Given the description of an element on the screen output the (x, y) to click on. 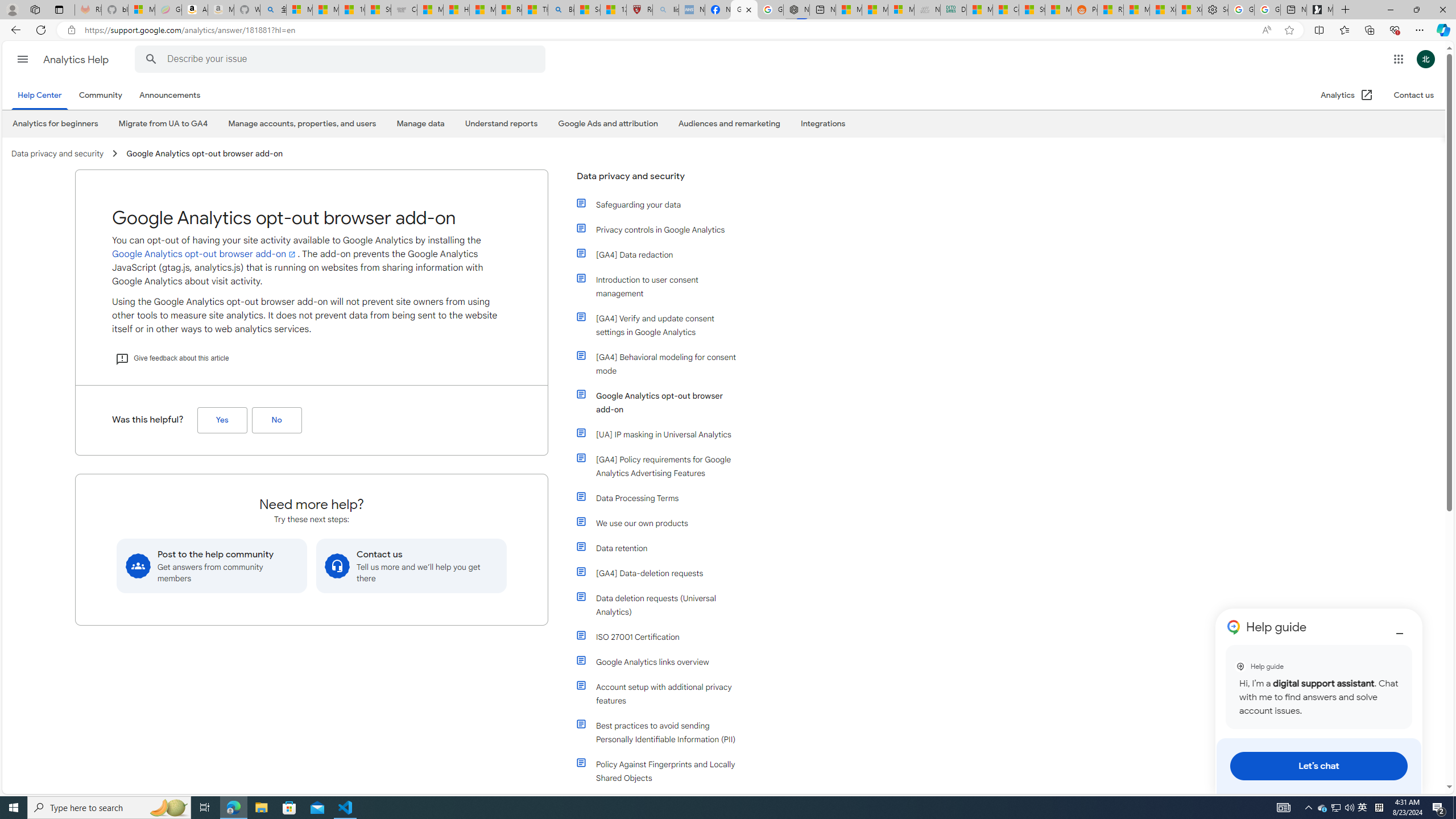
Community (100, 94)
[GA4] Verify and update consent settings in Google Analytics (658, 325)
[GA4] Data-deletion requests (664, 573)
[UA] IP masking in Universal Analytics (658, 434)
Data retention (664, 548)
Integrations (823, 123)
Introduction to user consent management (664, 286)
Data deletion requests (Universal Analytics) (658, 604)
ISO 27001 Certification (664, 636)
Manage data (420, 123)
